Given the description of an element on the screen output the (x, y) to click on. 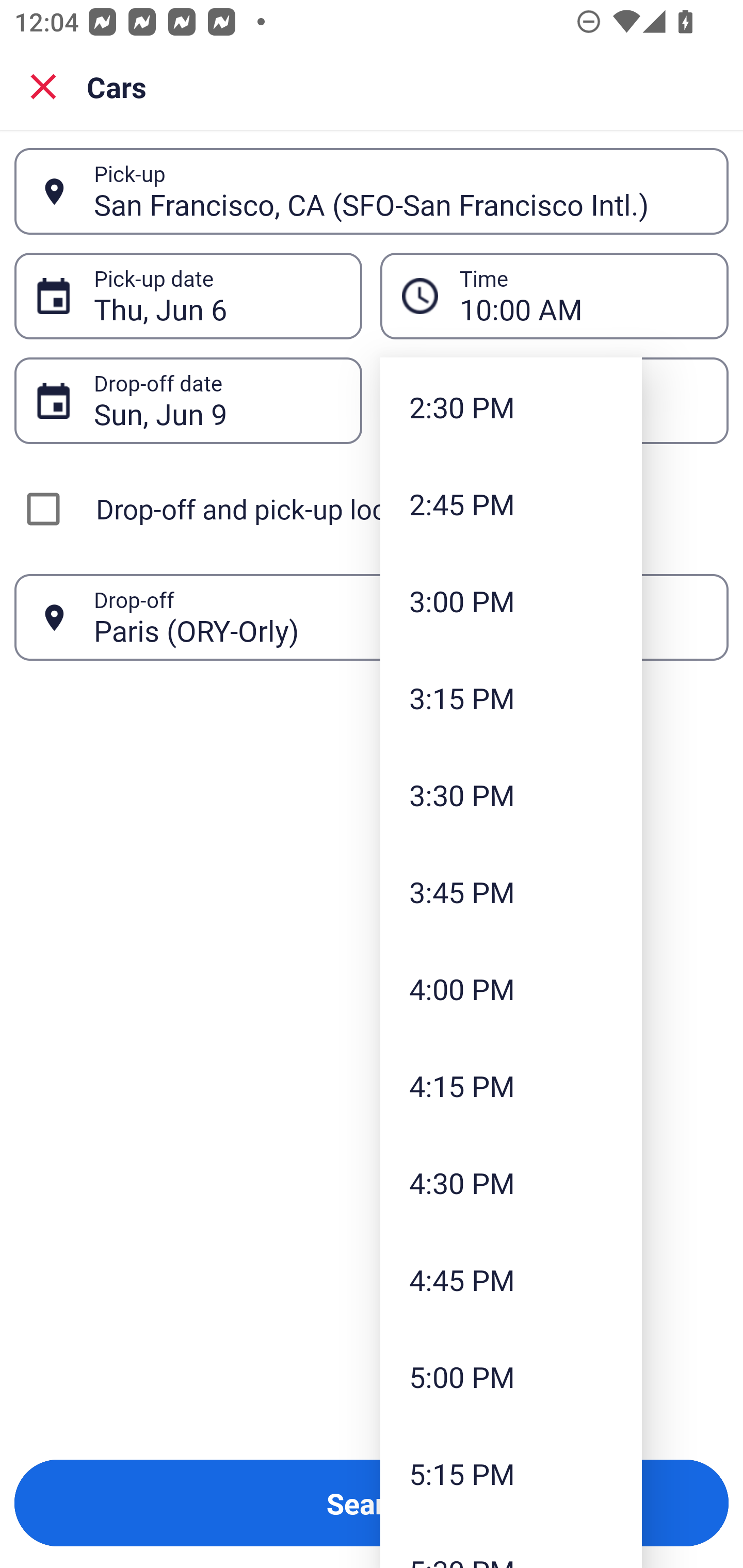
2:30 PM (510, 406)
2:45 PM (510, 502)
3:00 PM (510, 600)
3:15 PM (510, 697)
3:30 PM (510, 794)
3:45 PM (510, 891)
4:00 PM (510, 989)
4:15 PM (510, 1085)
4:30 PM (510, 1181)
4:45 PM (510, 1279)
5:00 PM (510, 1376)
5:15 PM (510, 1473)
